Given the description of an element on the screen output the (x, y) to click on. 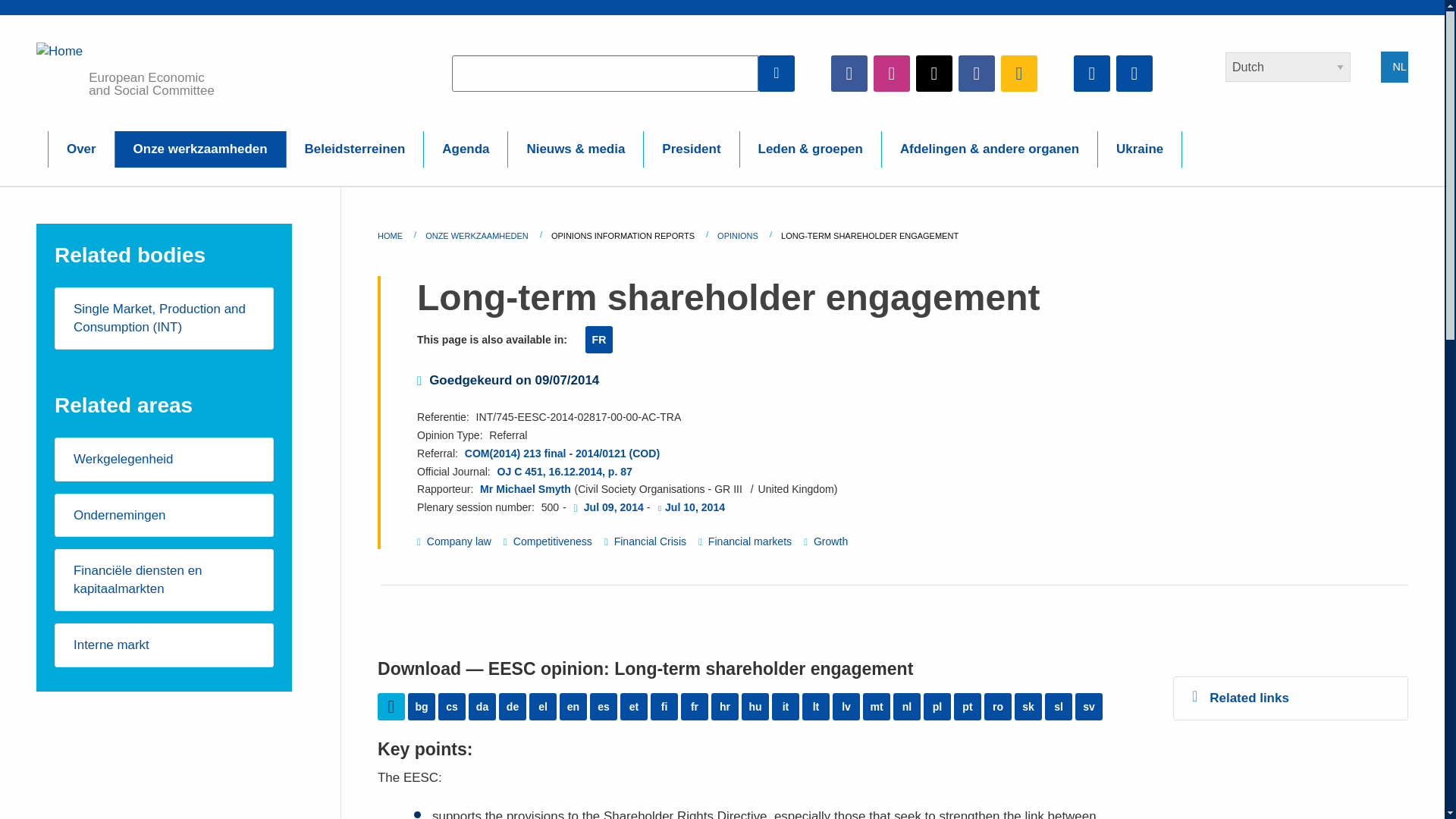
Apply (776, 72)
